Given the description of an element on the screen output the (x, y) to click on. 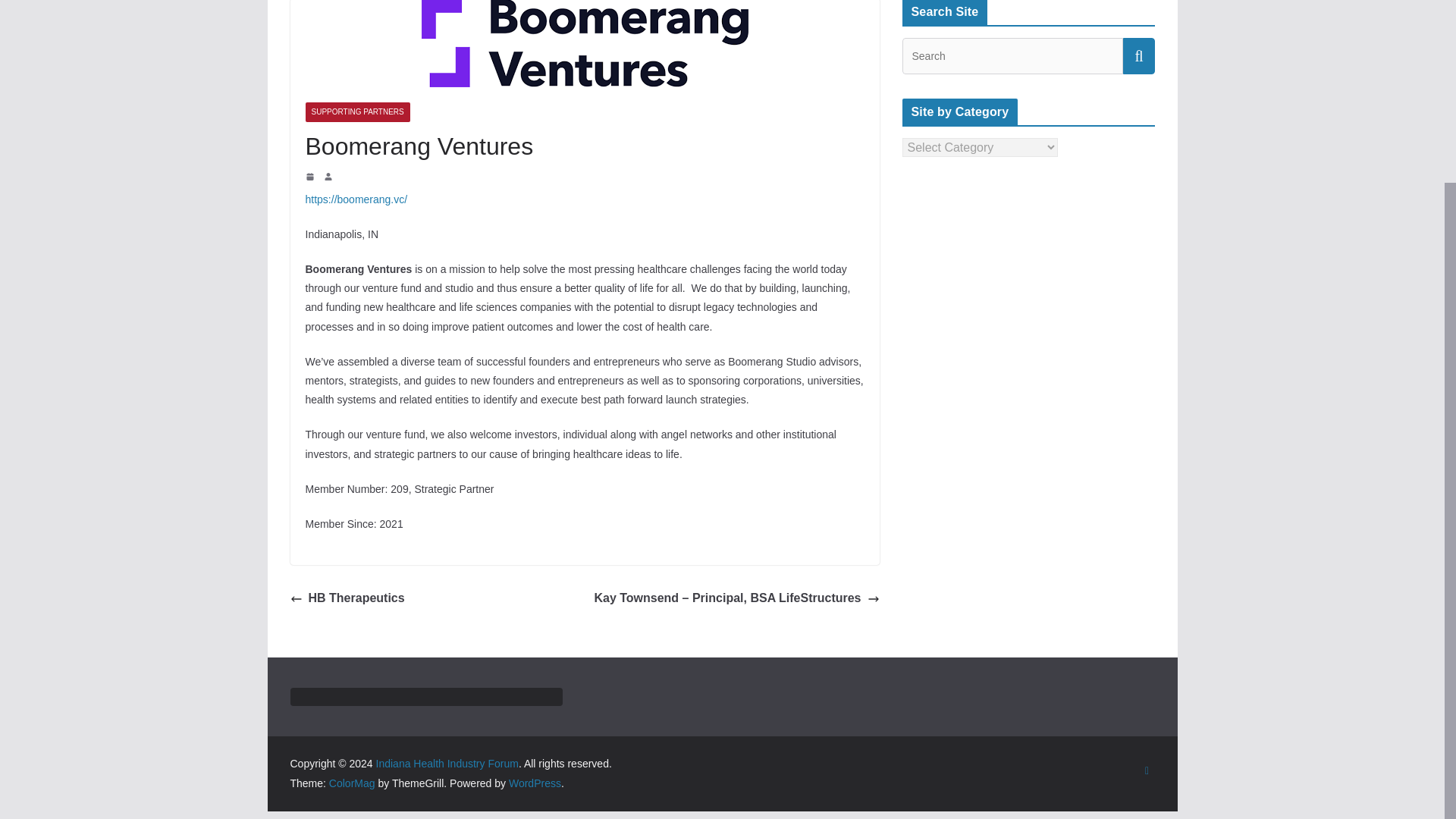
SUPPORTING PARTNERS (356, 112)
ColorMag (352, 783)
WordPress (534, 783)
Indiana Health Industry Forum (446, 763)
HB Therapeutics (346, 598)
